Given the description of an element on the screen output the (x, y) to click on. 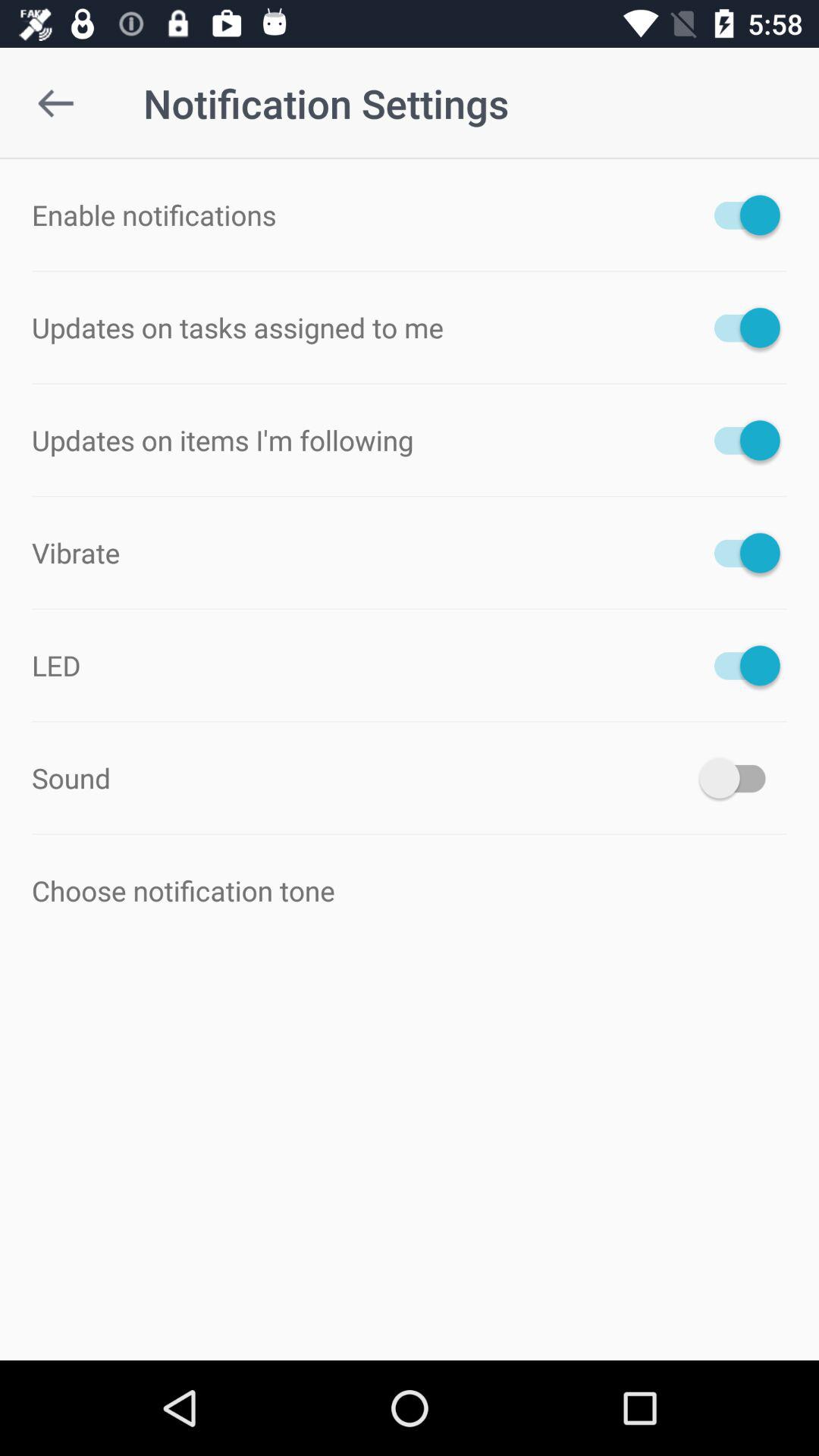
sound (739, 777)
